Given the description of an element on the screen output the (x, y) to click on. 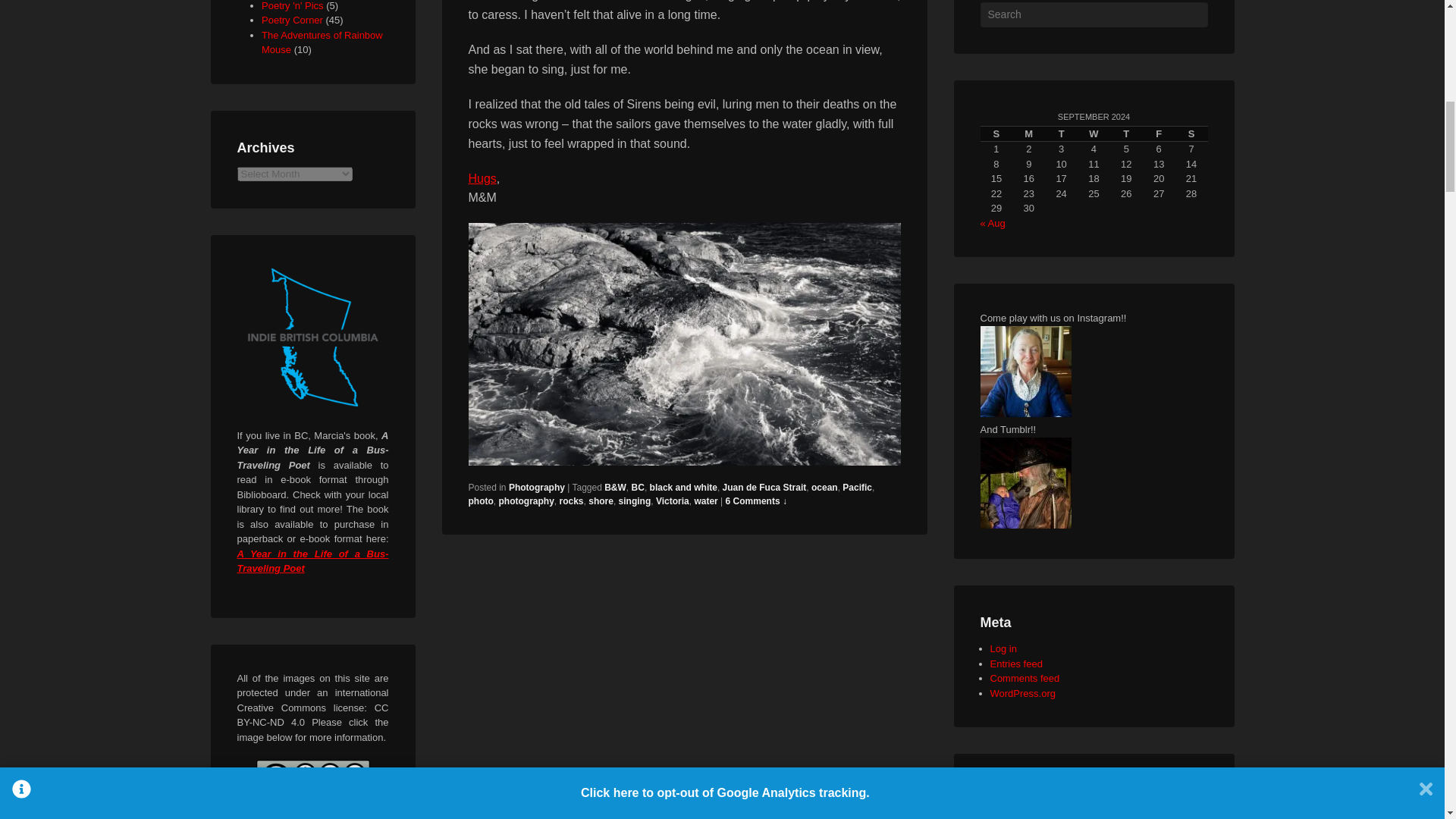
photography (526, 501)
black and white (683, 487)
singing (634, 501)
Holland Point Waves (684, 344)
ocean (824, 487)
shore (600, 501)
Juan de Fuca Strait (764, 487)
photo (480, 501)
BC (638, 487)
Pacific (857, 487)
